Given the description of an element on the screen output the (x, y) to click on. 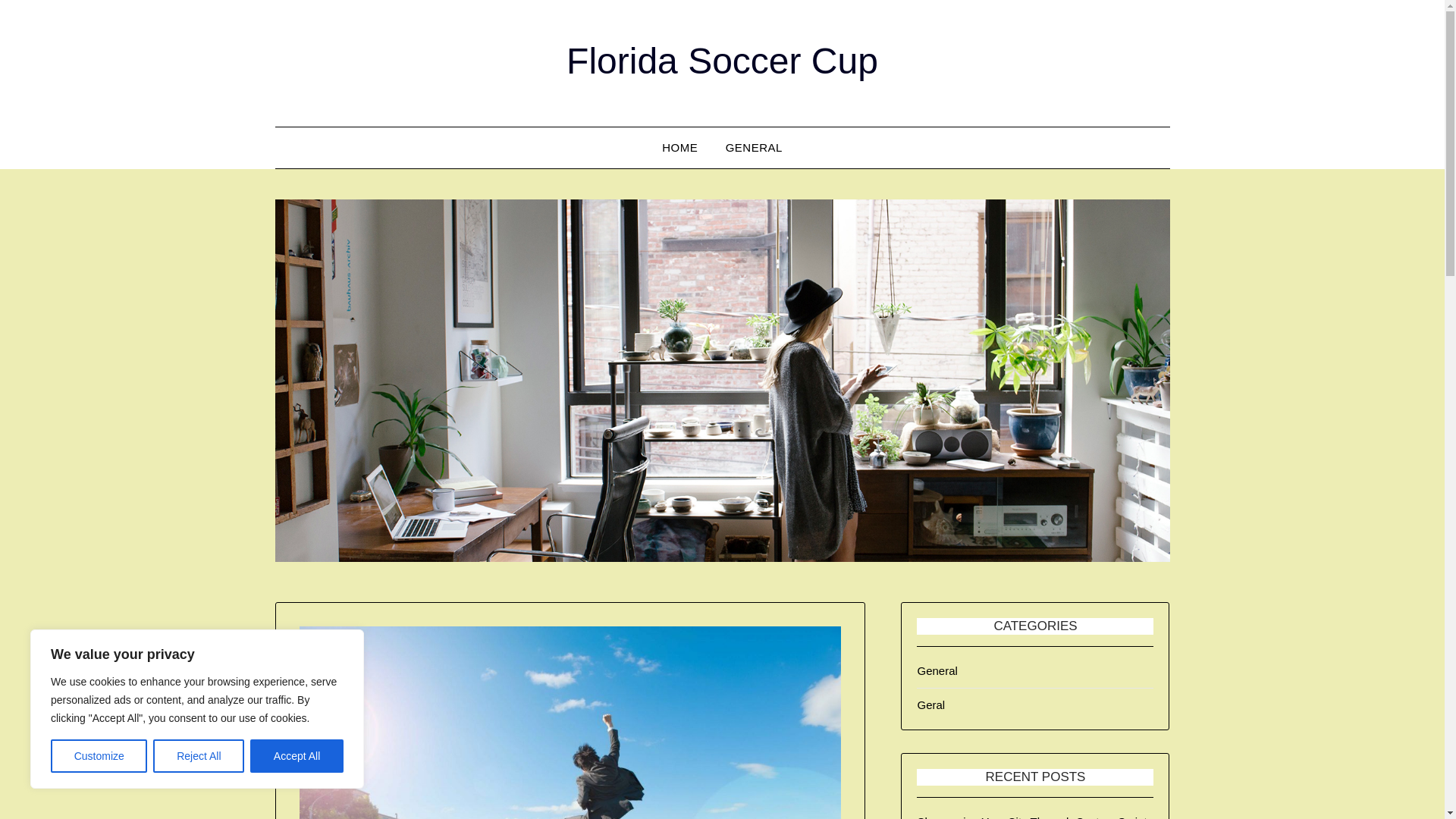
Florida Soccer Cup (721, 60)
Customize (98, 756)
Showcasing Your City Through Custom Script Hats (1032, 816)
General (936, 670)
GENERAL (753, 147)
Geral (930, 704)
HOME (679, 147)
Accept All (296, 756)
Reject All (198, 756)
